Given the description of an element on the screen output the (x, y) to click on. 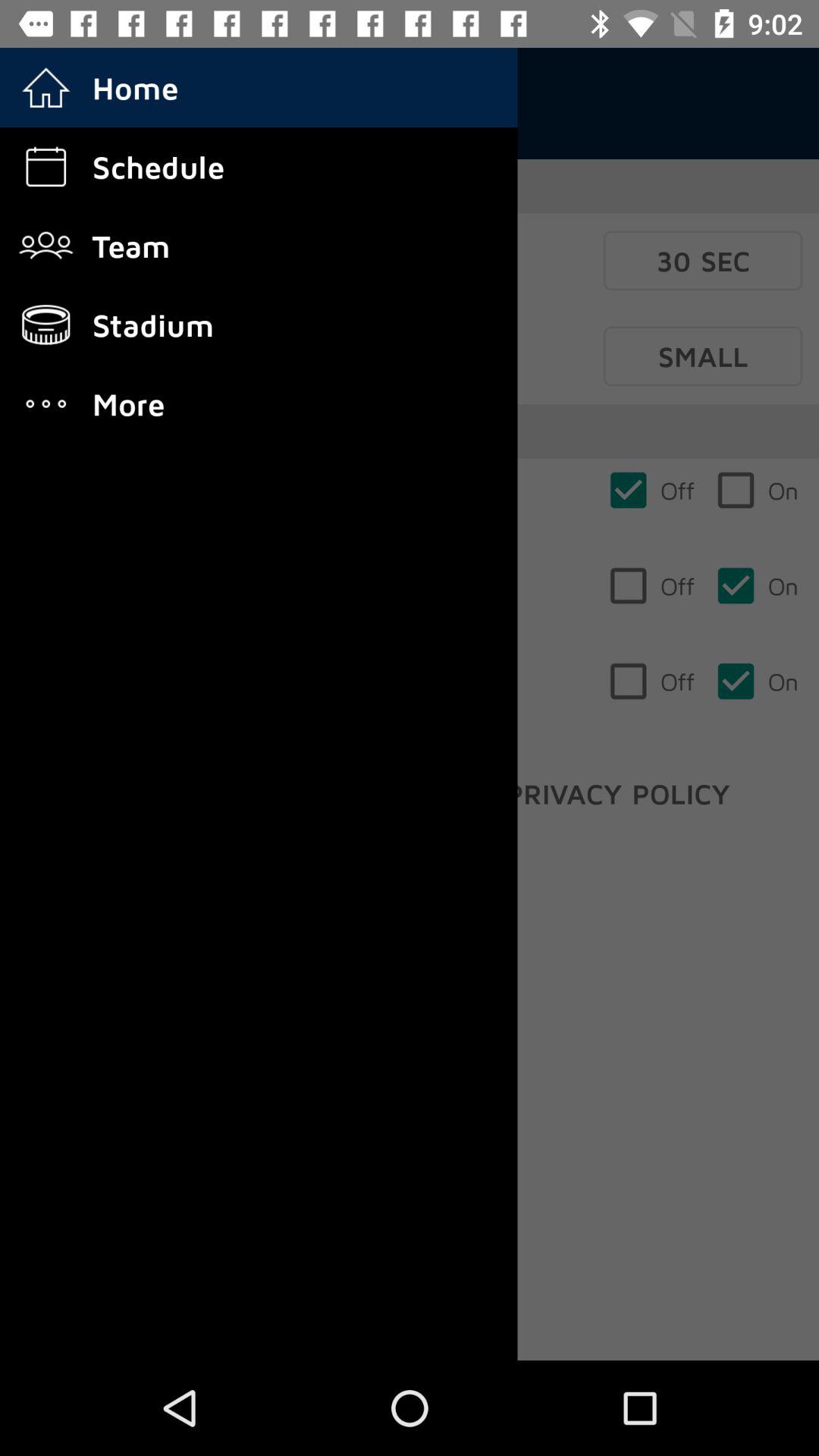
select the last text of the page (618, 793)
